Given the description of an element on the screen output the (x, y) to click on. 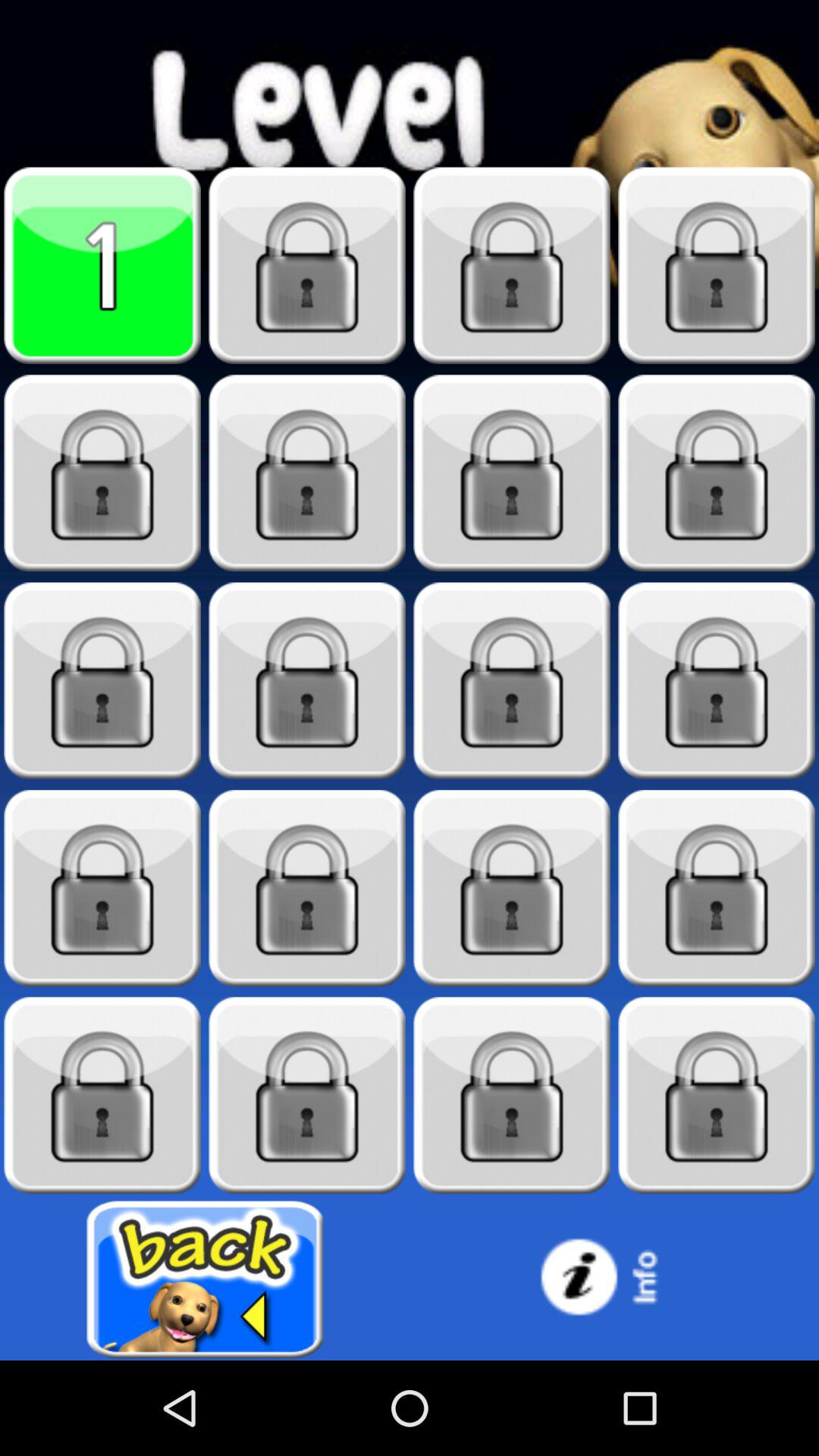
access level 4 (716, 265)
